Given the description of an element on the screen output the (x, y) to click on. 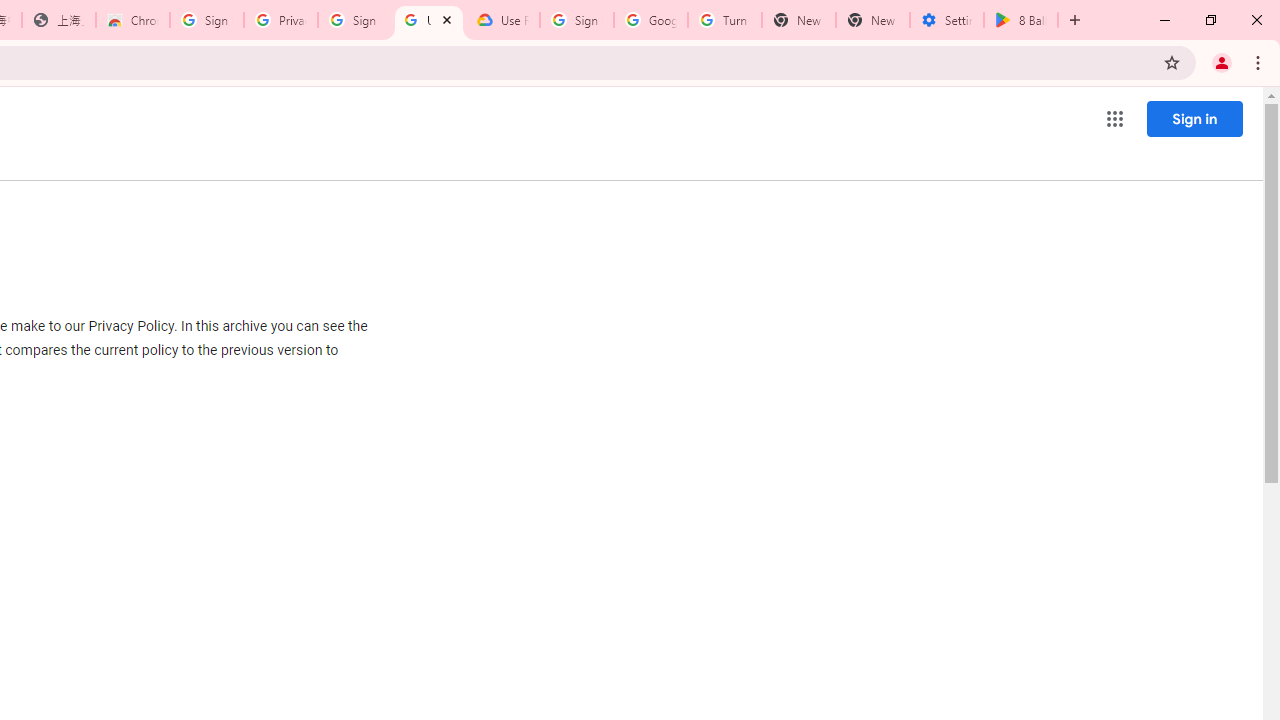
New Tab (872, 20)
Turn cookies on or off - Computer - Google Account Help (724, 20)
Chrome Web Store - Color themes by Chrome (133, 20)
Sign in - Google Accounts (577, 20)
Sign in - Google Accounts (207, 20)
Google Account Help (651, 20)
